Given the description of an element on the screen output the (x, y) to click on. 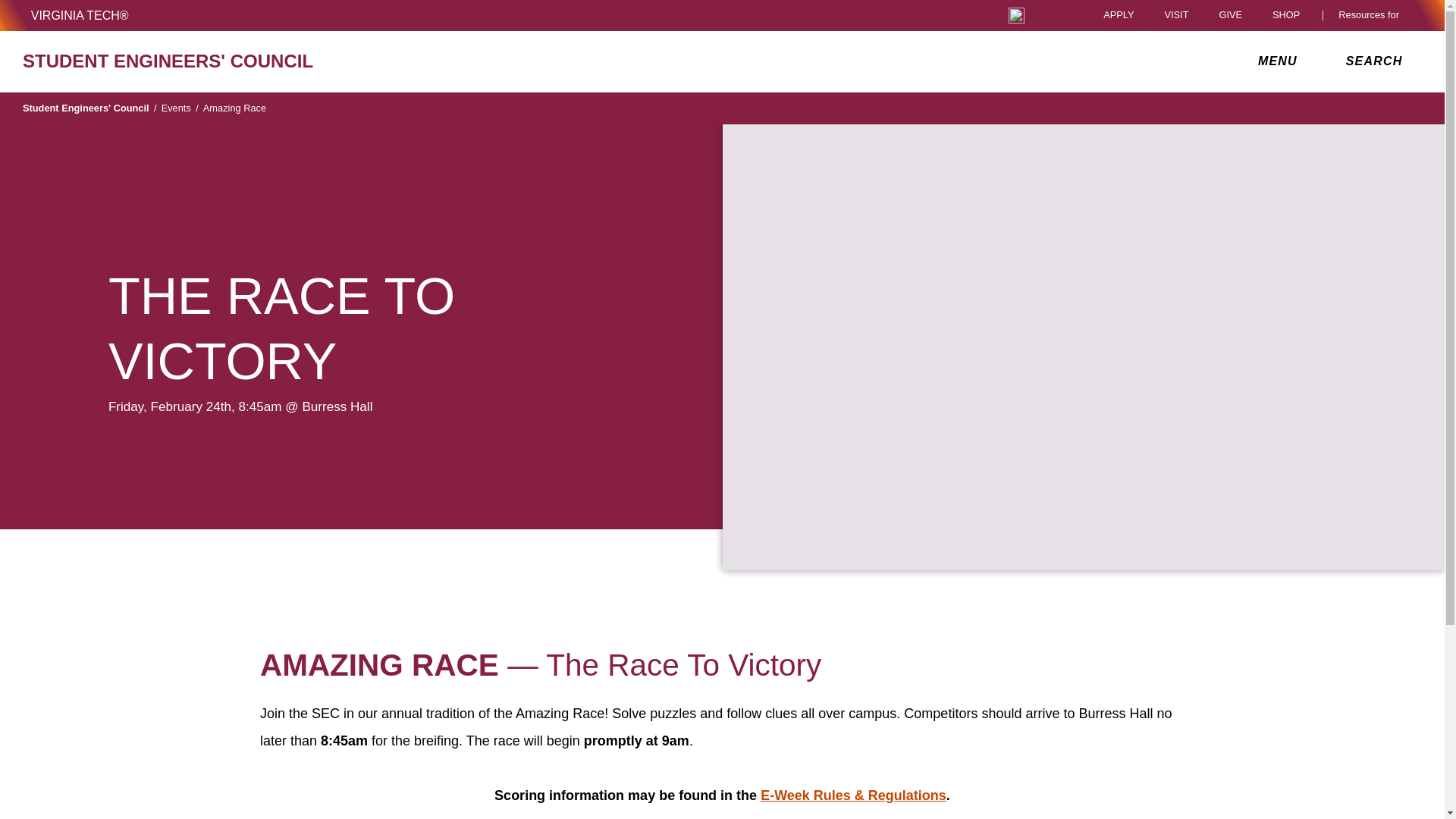
GIVE (1229, 15)
Resources for (1372, 15)
STUDENT ENGINEERS' COUNCIL (250, 60)
SHOP (1289, 15)
VISIT (1175, 15)
Universal Access Toggle (1017, 15)
MENU (1280, 61)
APPLY (1118, 15)
